Given the description of an element on the screen output the (x, y) to click on. 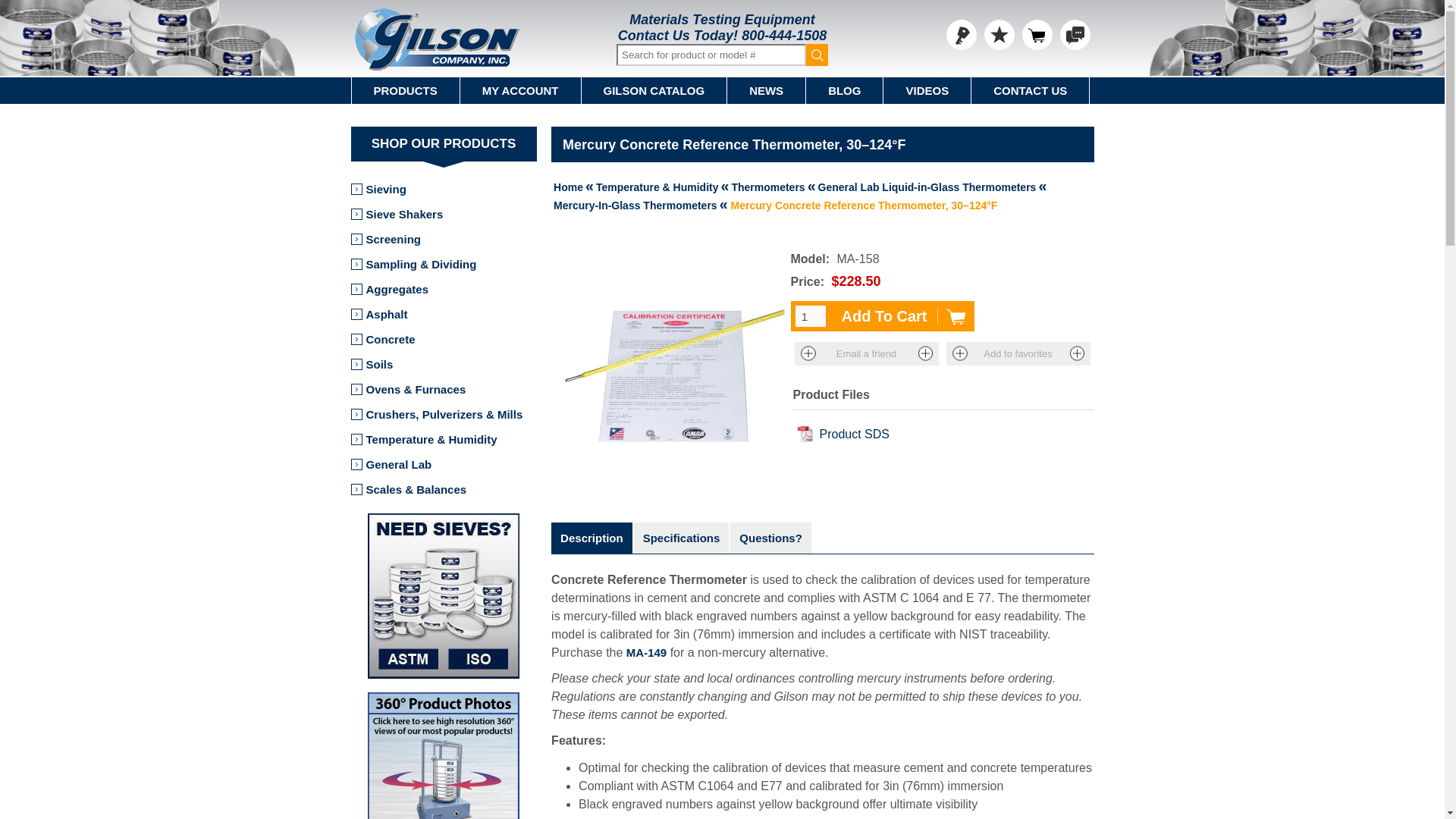
Search (817, 55)
800-444-1508 (784, 35)
1 (809, 315)
Favorites List (999, 34)
Add to favorites (1018, 353)
Gilson Chat (1074, 34)
NEWS (766, 90)
Search (817, 55)
BLOG (844, 90)
Search (817, 55)
Add To Cart (901, 316)
MY ACCOUNT (520, 90)
Shopping Cart (1037, 34)
Log in (961, 34)
PRODUCTS (406, 90)
